Given the description of an element on the screen output the (x, y) to click on. 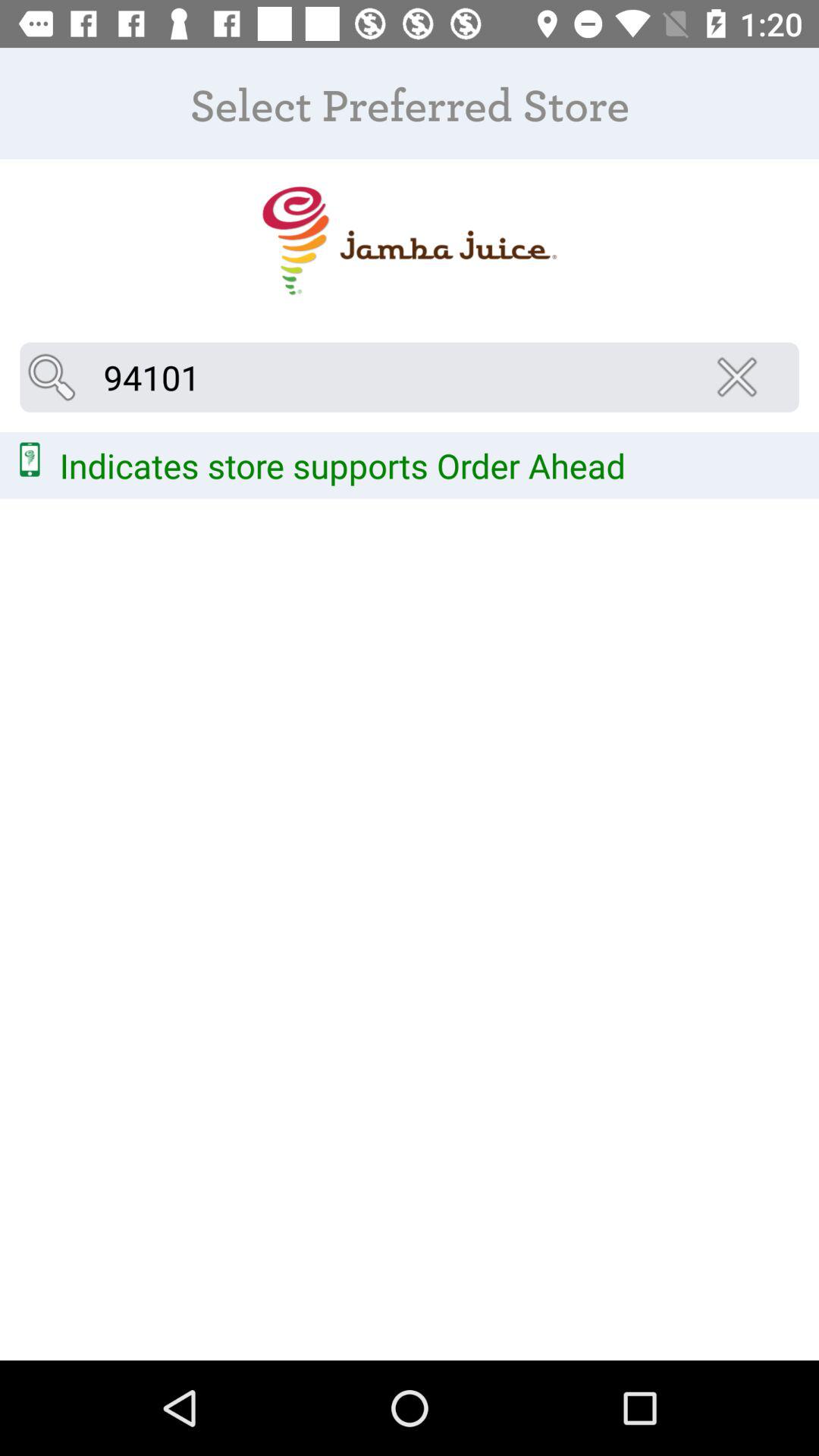
scroll until the 94101 (409, 377)
